Given the description of an element on the screen output the (x, y) to click on. 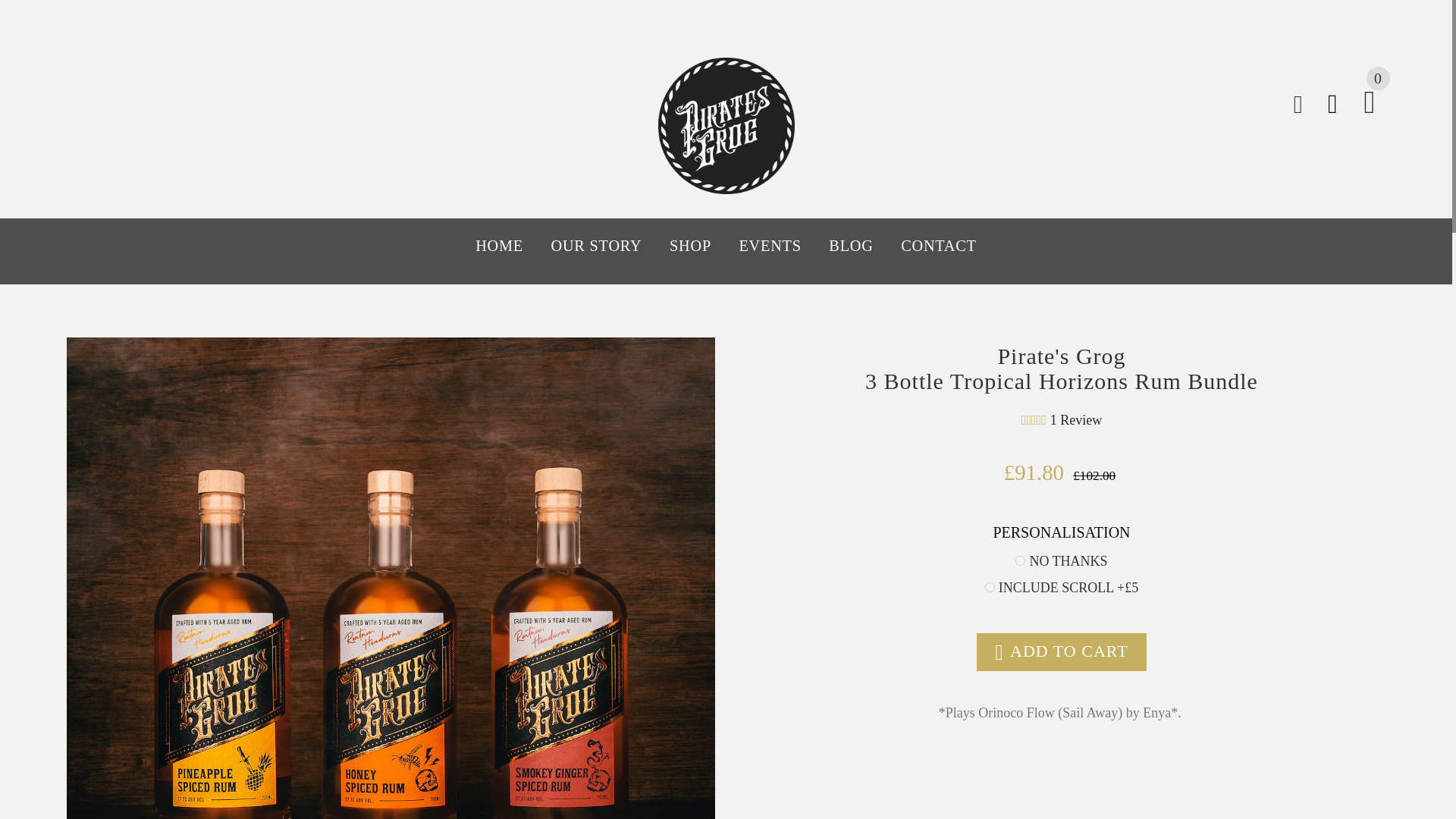
OUR STORY (596, 244)
SHOP (690, 244)
NO THANKS (1019, 560)
HOME (506, 244)
